Given the description of an element on the screen output the (x, y) to click on. 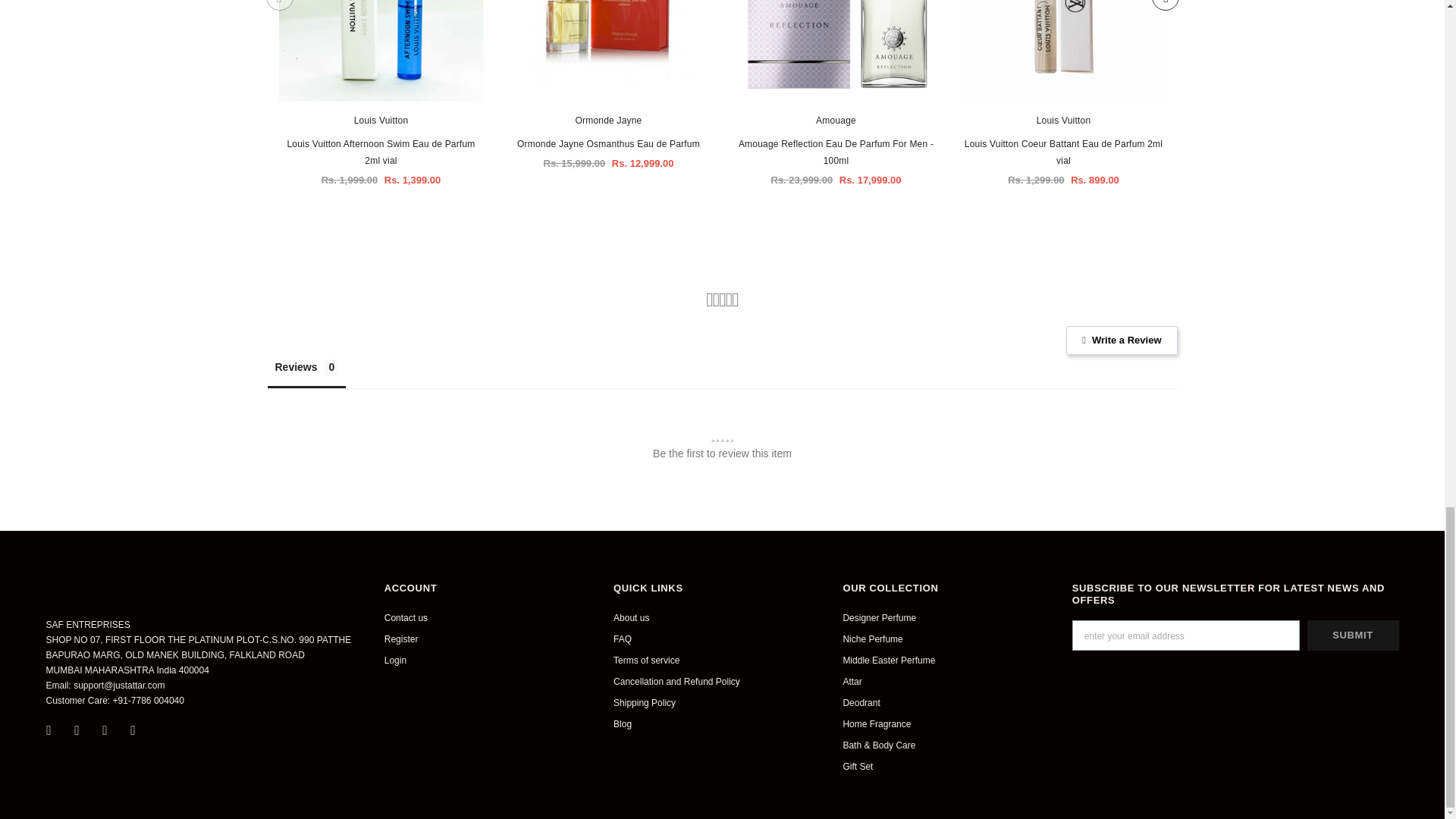
Submit (1353, 634)
